Given the description of an element on the screen output the (x, y) to click on. 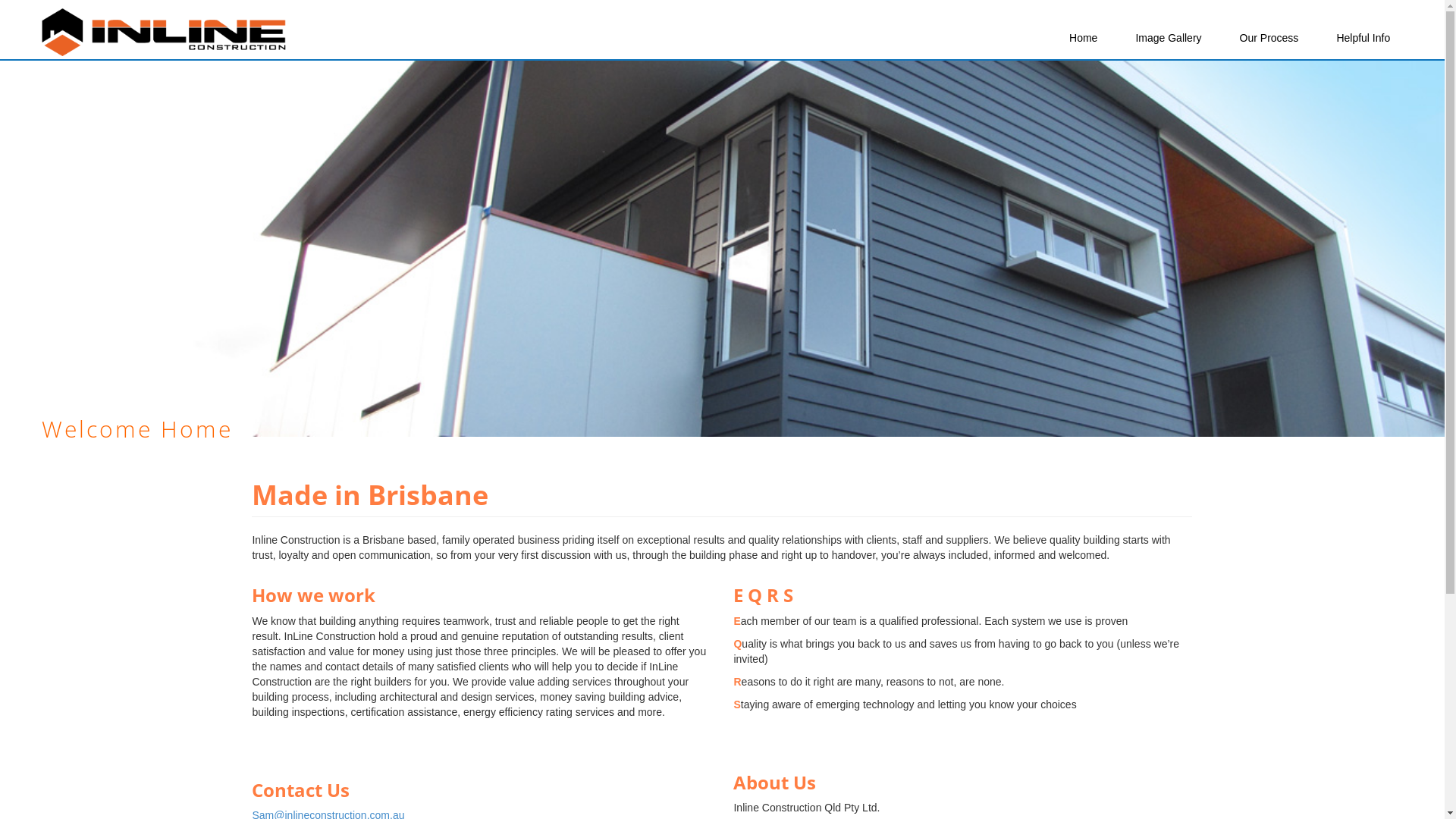
Our Process Element type: text (1269, 37)
Home Element type: text (1082, 37)
Image Gallery Element type: text (1167, 37)
Helpful Info Element type: text (1362, 37)
